Given the description of an element on the screen output the (x, y) to click on. 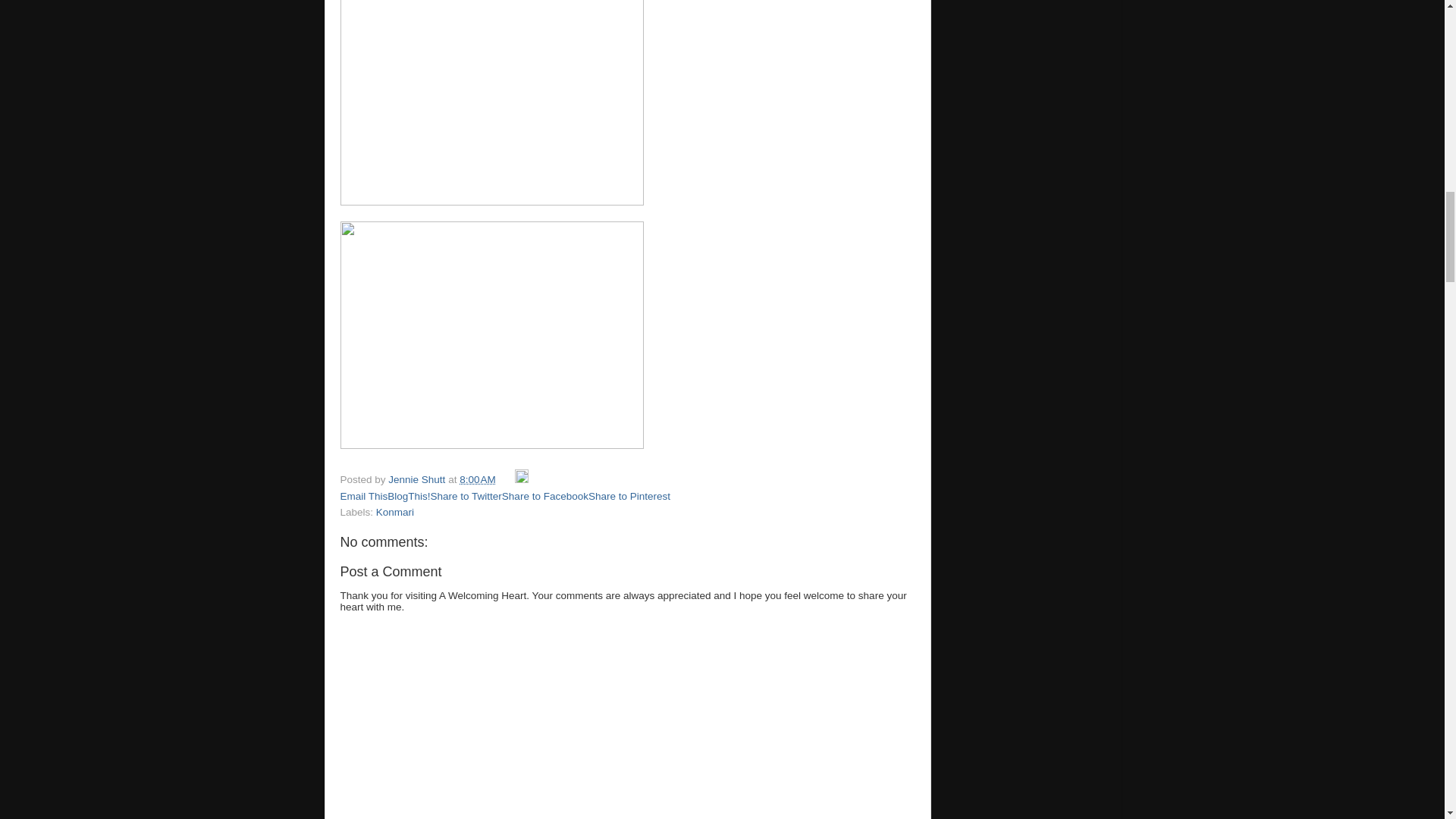
Email Post (507, 479)
Email This (363, 496)
BlogThis! (408, 496)
permanent link (478, 479)
Email This (363, 496)
Share to Pinterest (628, 496)
Jennie Shutt (418, 479)
Share to Facebook (545, 496)
BlogThis! (408, 496)
Share to Twitter (466, 496)
author profile (418, 479)
Share to Twitter (466, 496)
Share to Facebook (545, 496)
Konmari (394, 511)
